Given the description of an element on the screen output the (x, y) to click on. 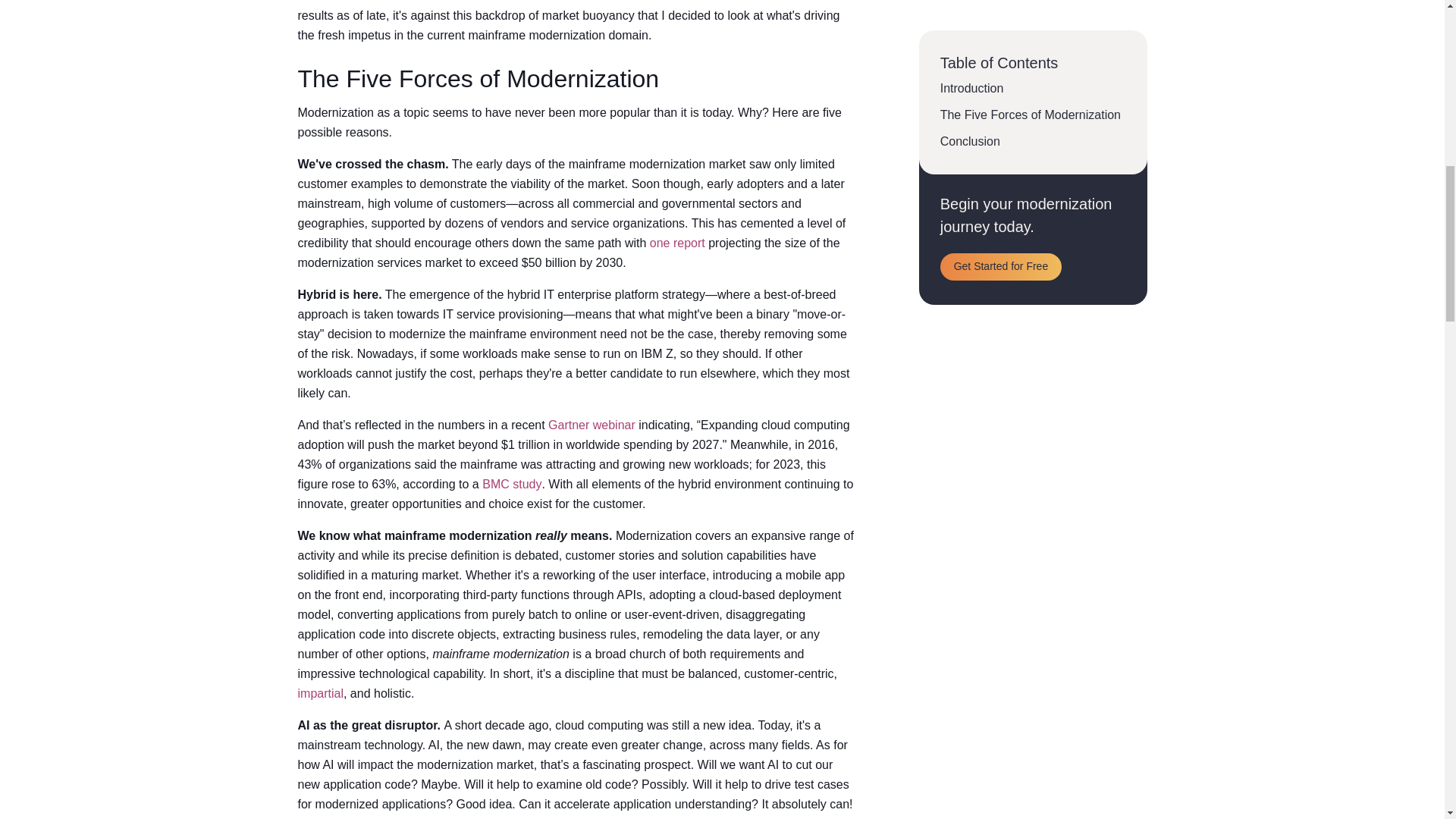
Gartner webinar (591, 424)
impartial (319, 693)
one report (676, 243)
BMC study (511, 484)
